Given the description of an element on the screen output the (x, y) to click on. 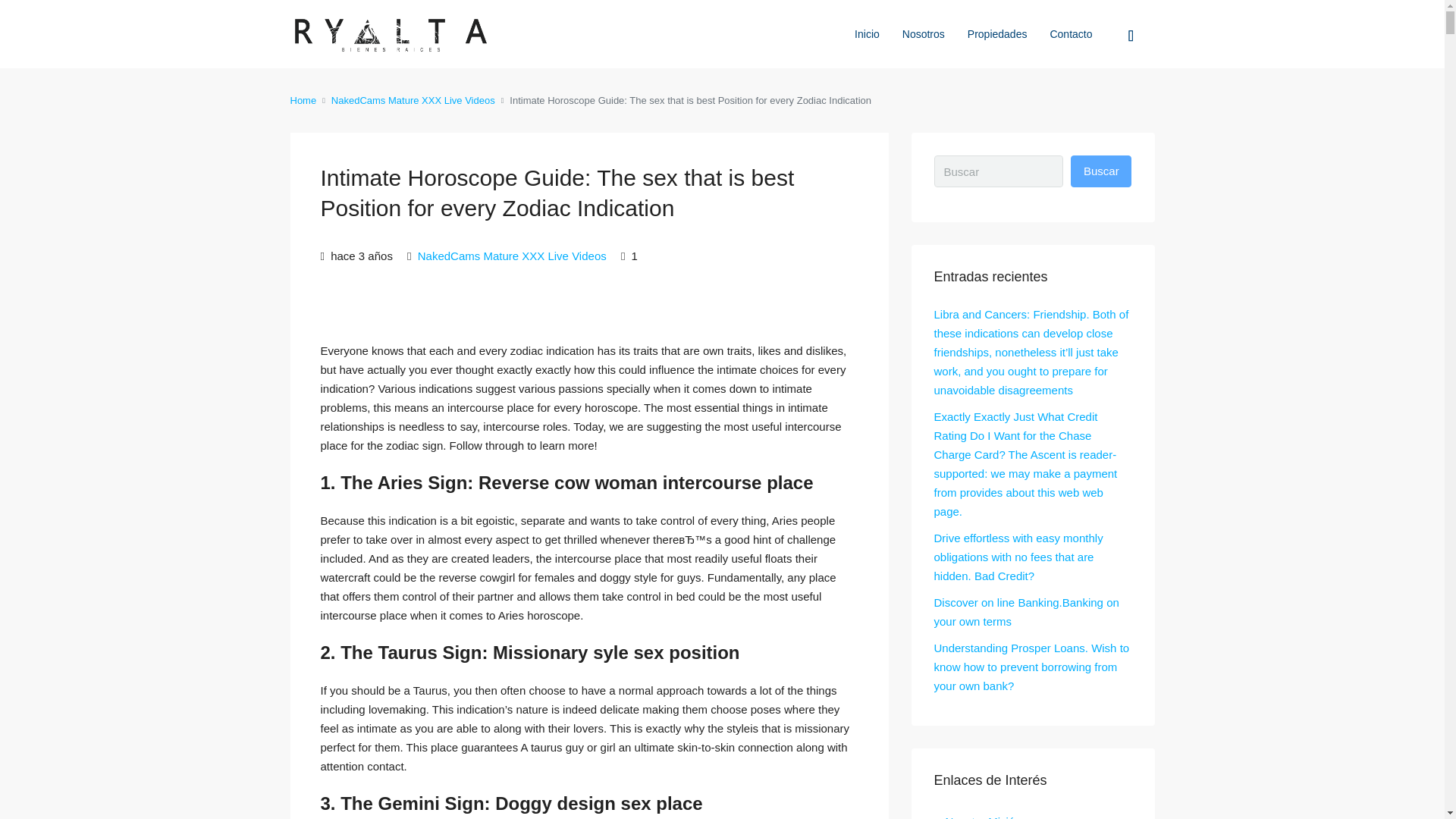
NakedCams Mature XXX Live Videos (413, 99)
Contacto (1070, 33)
NakedCams Mature XXX Live Videos (512, 255)
Nosotros (923, 33)
Buscar (1100, 171)
Home (302, 99)
Propiedades (997, 33)
